Given the description of an element on the screen output the (x, y) to click on. 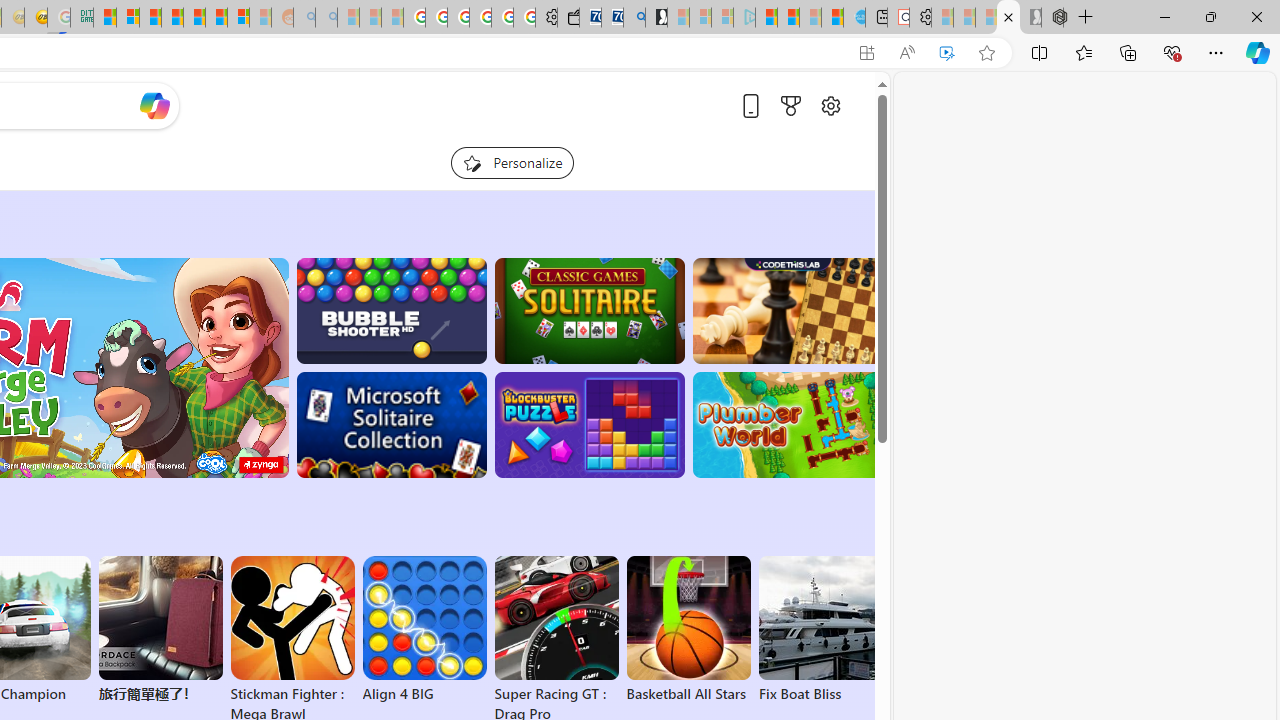
Cheap Car Rentals - Save70.com (612, 17)
Kinda Frugal - MSN (216, 17)
Personalize your feed" (511, 162)
Bing Real Estate - Home sales and rental listings (634, 17)
